Given the description of an element on the screen output the (x, y) to click on. 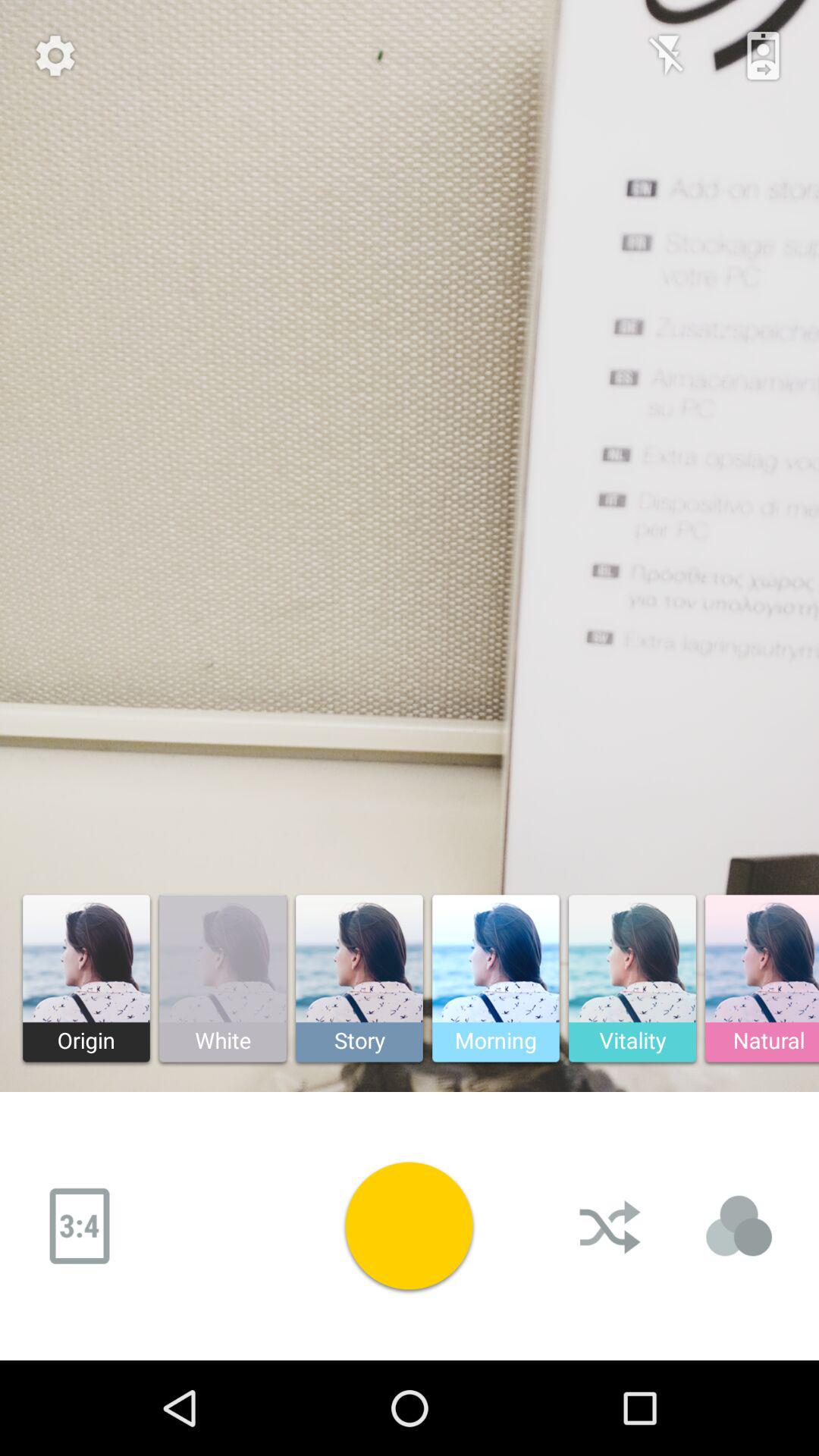
click on the first button from the top right corner (763, 55)
